Given the description of an element on the screen output the (x, y) to click on. 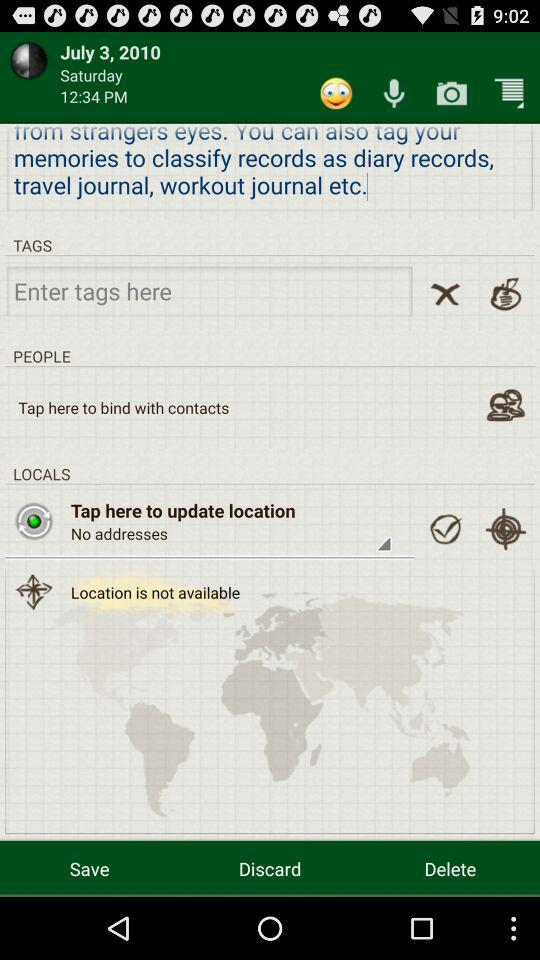
update location using device (505, 529)
